Given the description of an element on the screen output the (x, y) to click on. 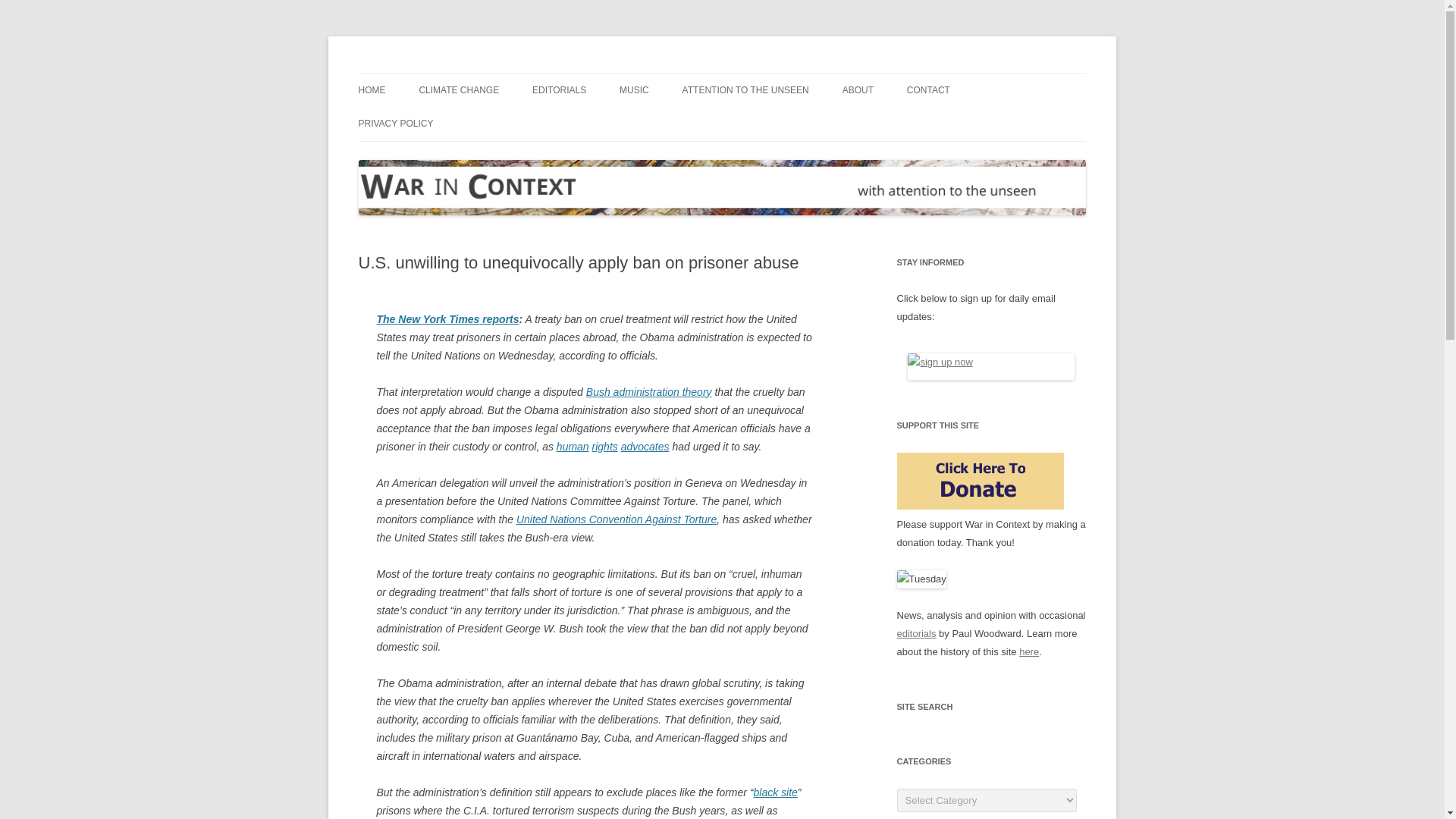
CLIMATE CHANGE (459, 90)
Bush administration theory (648, 390)
ATTENTION TO THE UNSEEN (745, 90)
editorials (916, 633)
ABOUT (858, 90)
black site (775, 791)
here (1029, 651)
EDITORIALS (559, 90)
War in Context (427, 72)
PRIVACY POLICY (395, 123)
United Nations Convention Against Torture (616, 518)
MUSIC (634, 90)
human (572, 445)
advocates (645, 445)
